Given the description of an element on the screen output the (x, y) to click on. 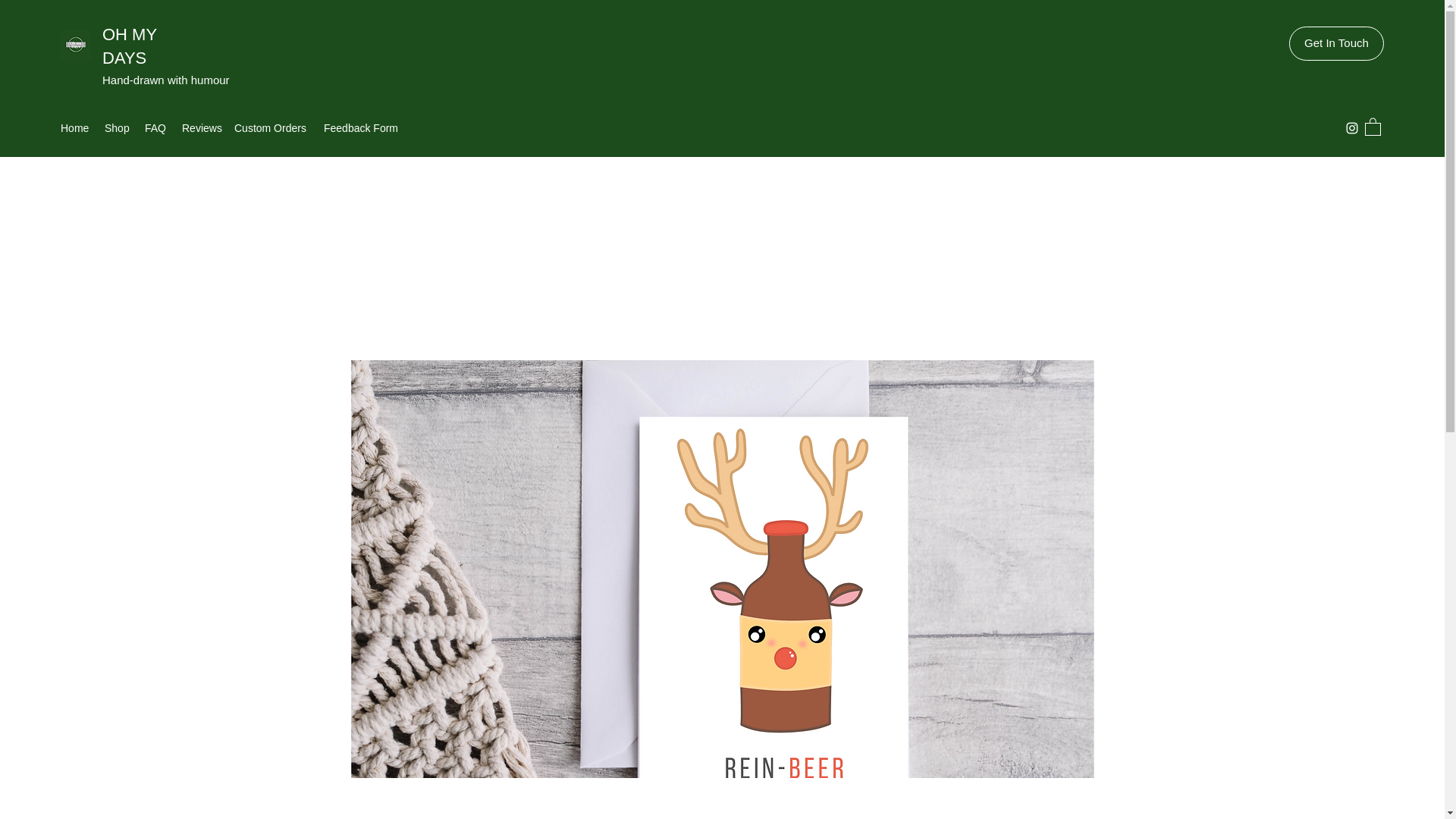
Shop (116, 128)
Reviews (200, 128)
Get In Touch (1336, 43)
Feedback Form (361, 128)
Home (74, 128)
Custom Orders (271, 128)
OH MY DAYS (129, 46)
FAQ (155, 128)
